Given the description of an element on the screen output the (x, y) to click on. 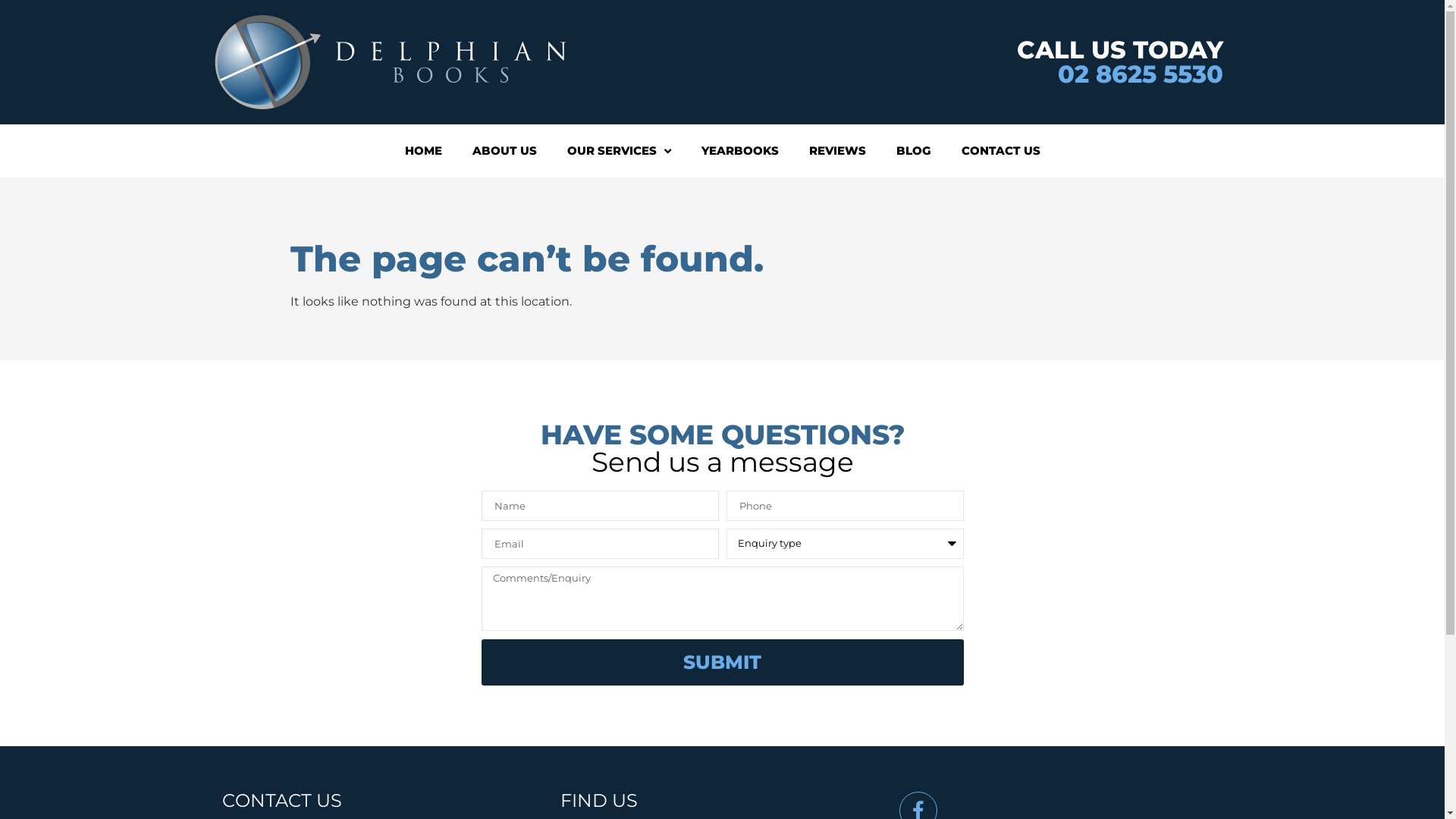
ABOUT US Element type: text (503, 150)
SUBMIT Element type: text (721, 662)
REVIEWS Element type: text (836, 150)
OUR SERVICES Element type: text (619, 150)
CONTACT US Element type: text (1000, 150)
BLOG Element type: text (913, 150)
YEARBOOKS Element type: text (739, 150)
02 8625 5530 Element type: text (1139, 73)
HOME Element type: text (423, 150)
